Given the description of an element on the screen output the (x, y) to click on. 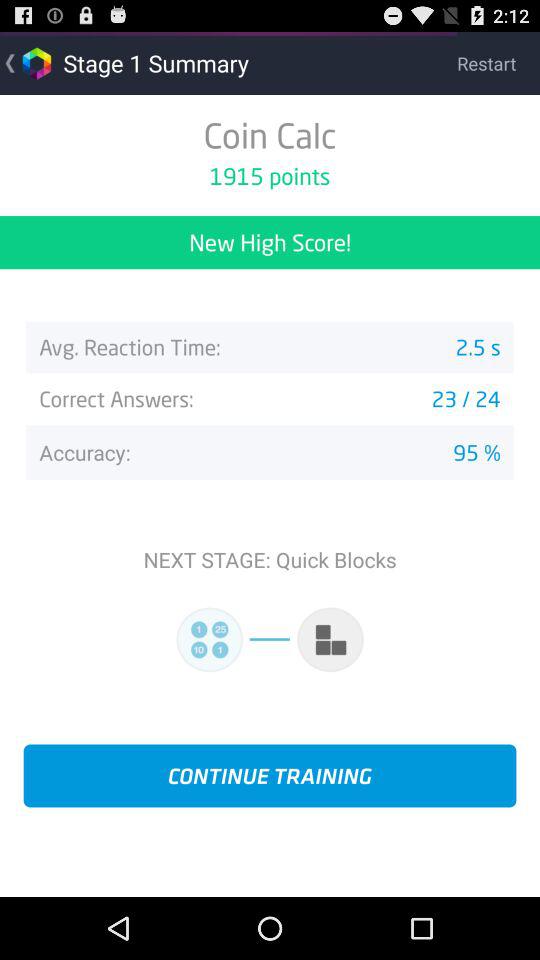
press the restart (498, 62)
